Given the description of an element on the screen output the (x, y) to click on. 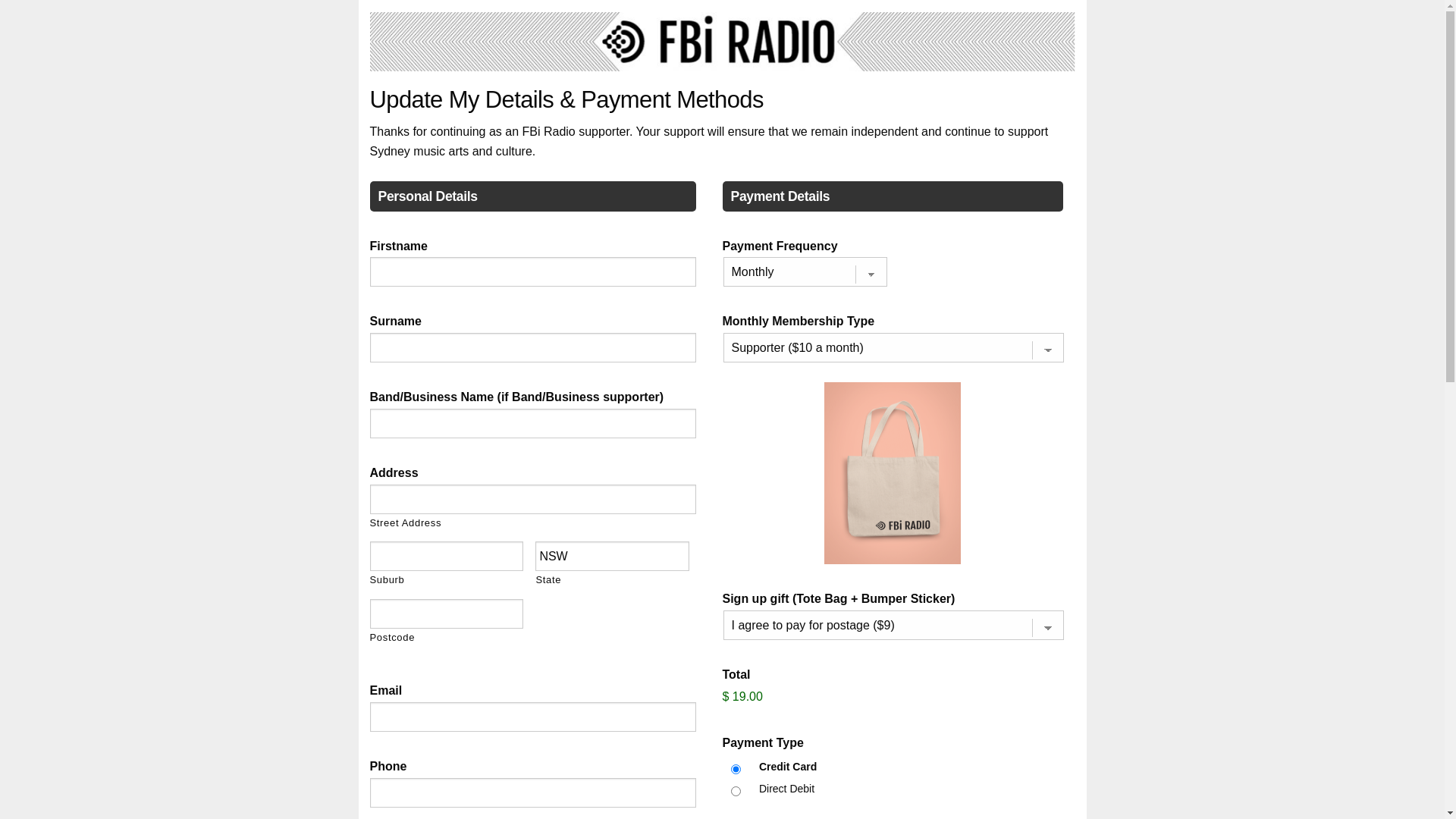
Tote Bag Image Element type: hover (892, 473)
